Given the description of an element on the screen output the (x, y) to click on. 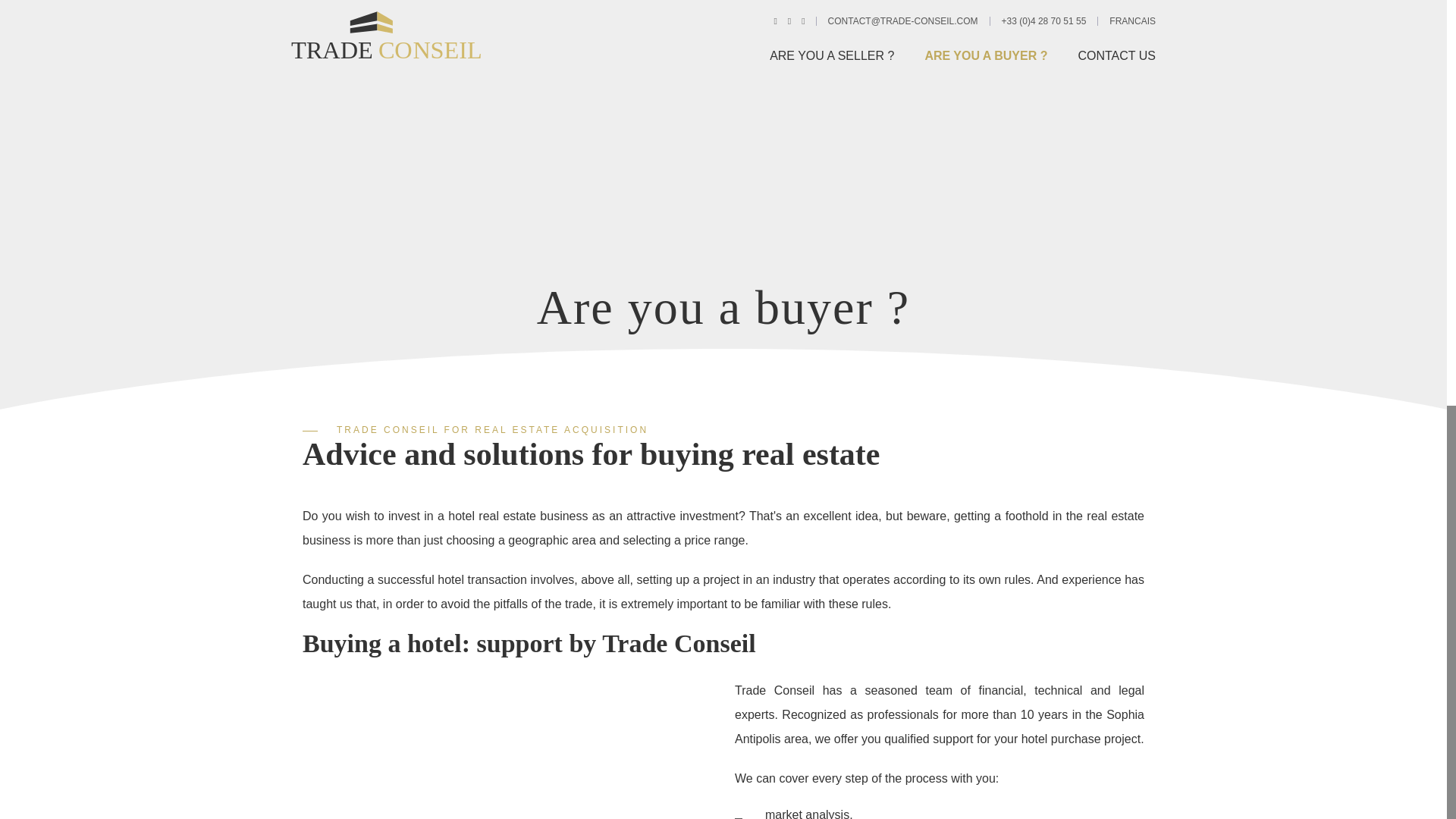
ARE YOU A SELLER ? (839, 62)
CONTACT US (1109, 62)
ARE YOU A BUYER ? (985, 62)
FRANCAIS (1132, 20)
